Given the description of an element on the screen output the (x, y) to click on. 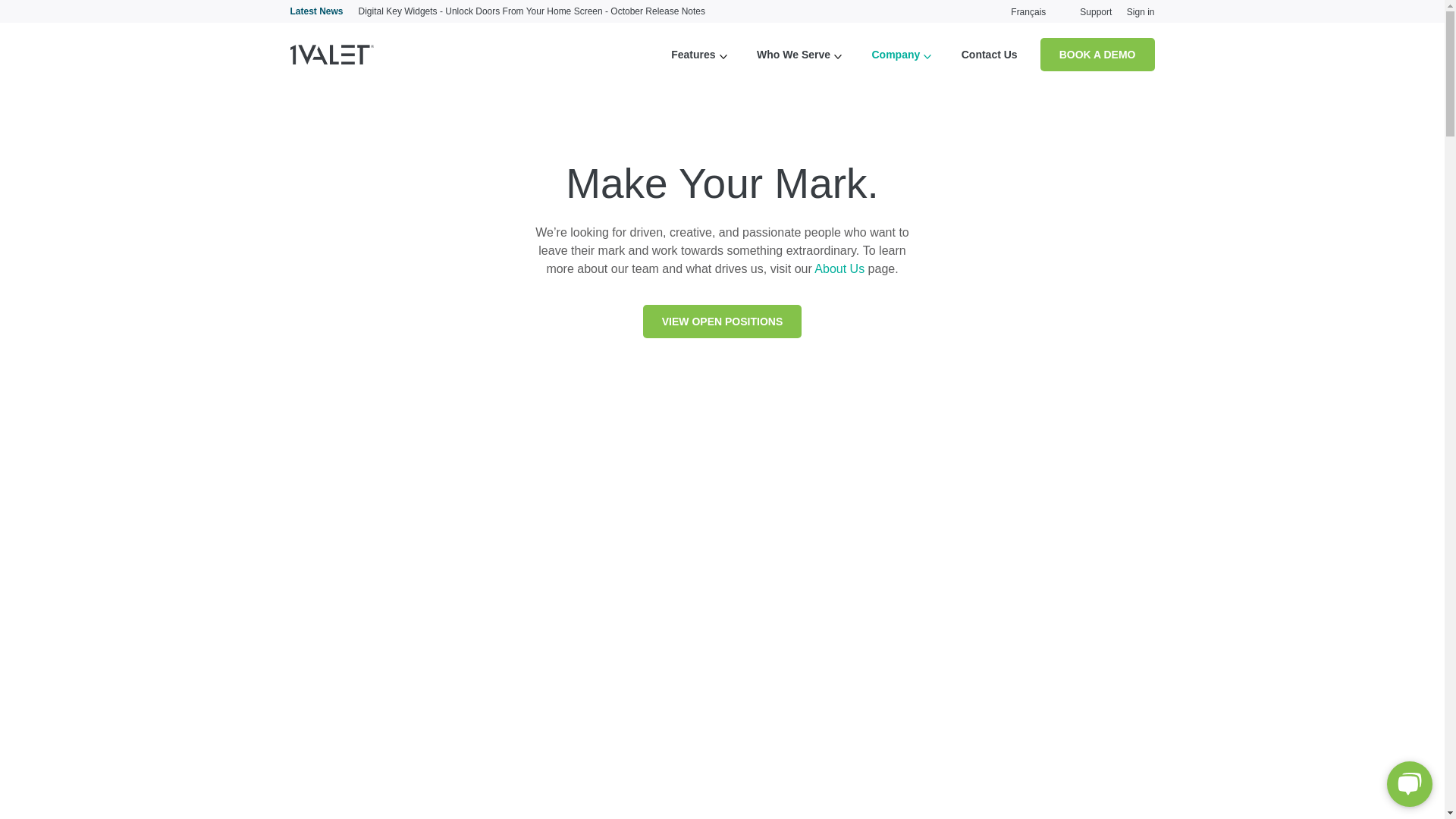
Support Element type: text (1095, 11)
Who We Serve Element type: text (793, 54)
BOOK A DEMO Element type: text (1097, 54)
Features Element type: text (693, 54)
1VALET Smart Building Technology Element type: hover (331, 53)
About Us Element type: text (839, 268)
Sign in Element type: text (1140, 11)
Company Element type: text (895, 54)
VIEW OPEN POSITIONS Element type: text (722, 321)
Contact Us Element type: text (989, 54)
